Given the description of an element on the screen output the (x, y) to click on. 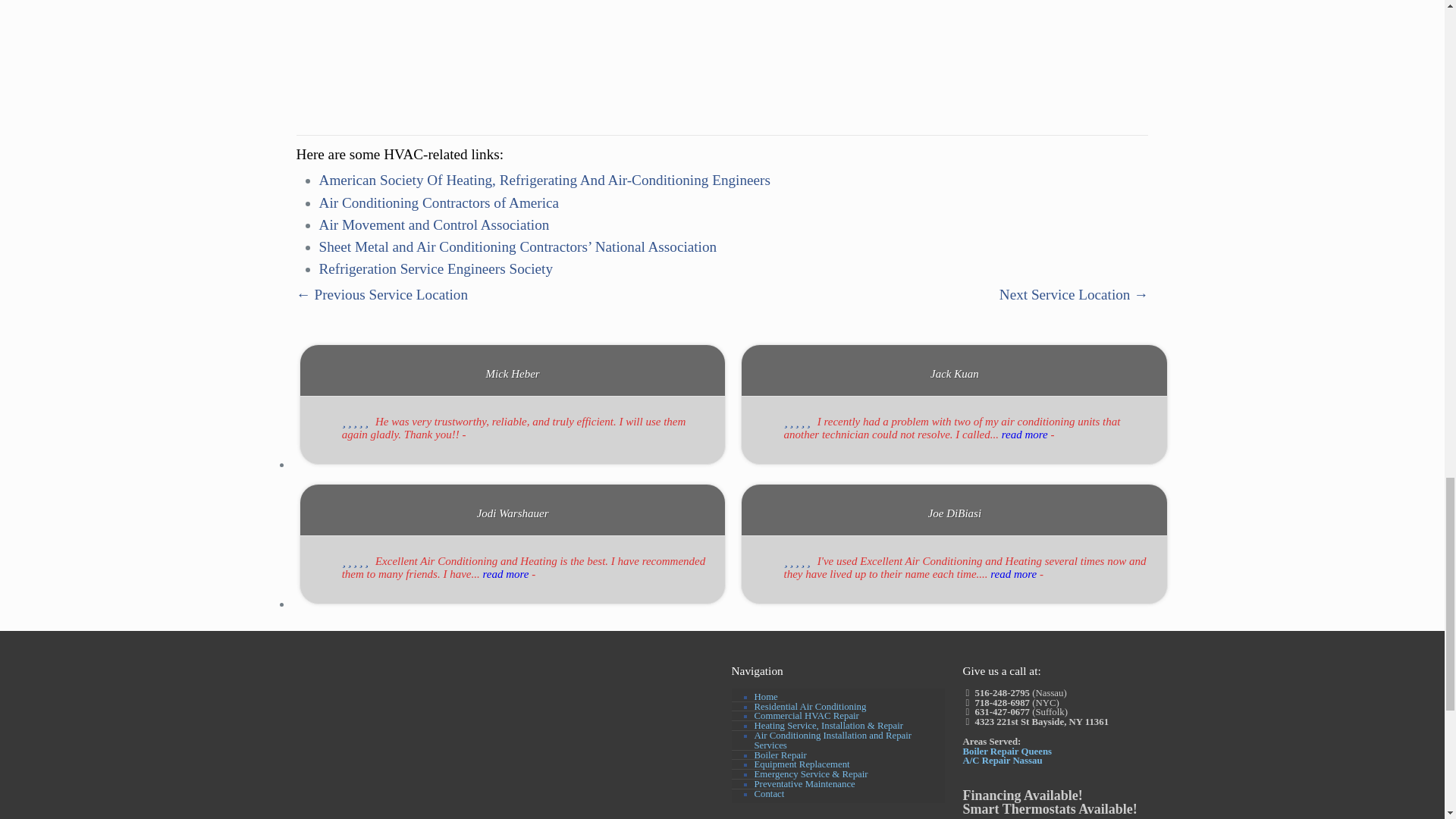
coupon (381, 721)
Refrigeration Service Engineers Society (435, 268)
Air Movement and Control Association (434, 224)
Air Conditioning Contractors of America (438, 202)
